Given the description of an element on the screen output the (x, y) to click on. 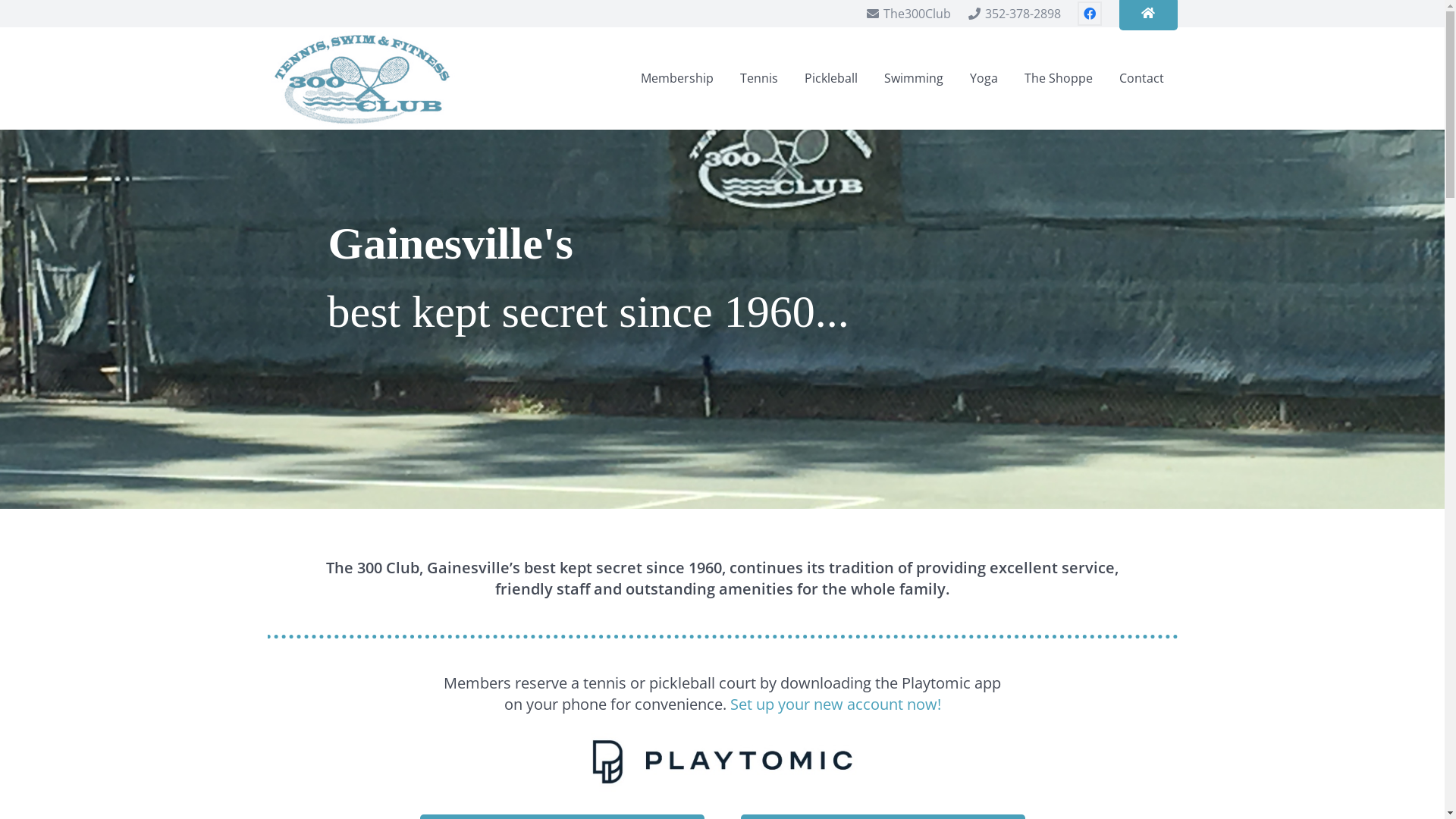
Set up your new account now! Element type: text (834, 703)
Pickleball Element type: text (831, 78)
The Shoppe Element type: text (1058, 78)
Contact Element type: text (1141, 78)
Yoga Element type: text (984, 78)
Swimming Element type: text (914, 78)
Facebook Element type: hover (1089, 13)
Tennis Element type: text (759, 78)
The300Club Element type: text (908, 13)
Membership Element type: text (677, 78)
